Given the description of an element on the screen output the (x, y) to click on. 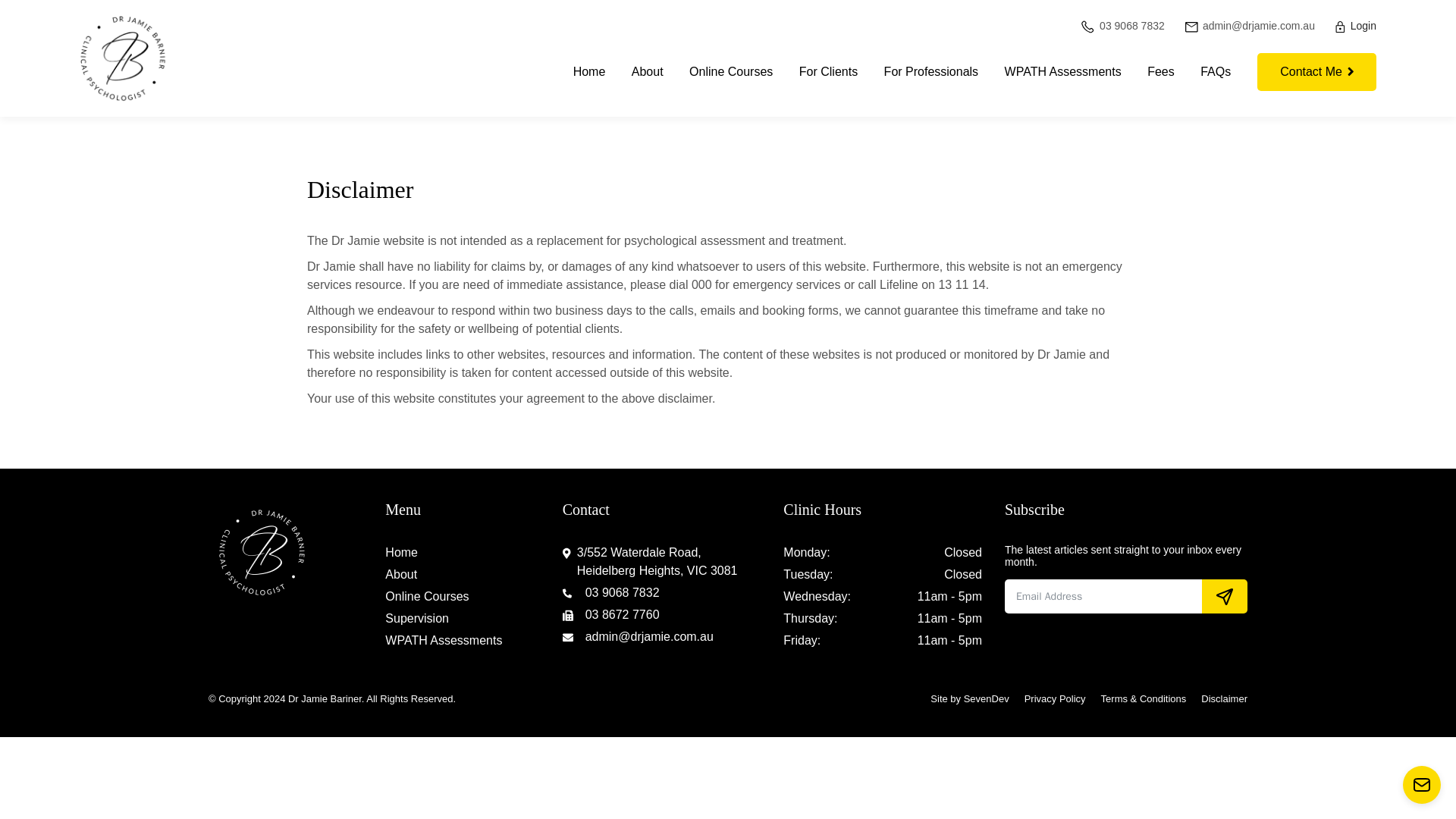
WPATH Assessments (1062, 71)
About (400, 574)
Login (1354, 25)
For Professionals (931, 71)
Online Courses (731, 71)
Online Courses (426, 597)
Home (401, 552)
Contact Me (1316, 71)
For Clients (828, 71)
